Given the description of an element on the screen output the (x, y) to click on. 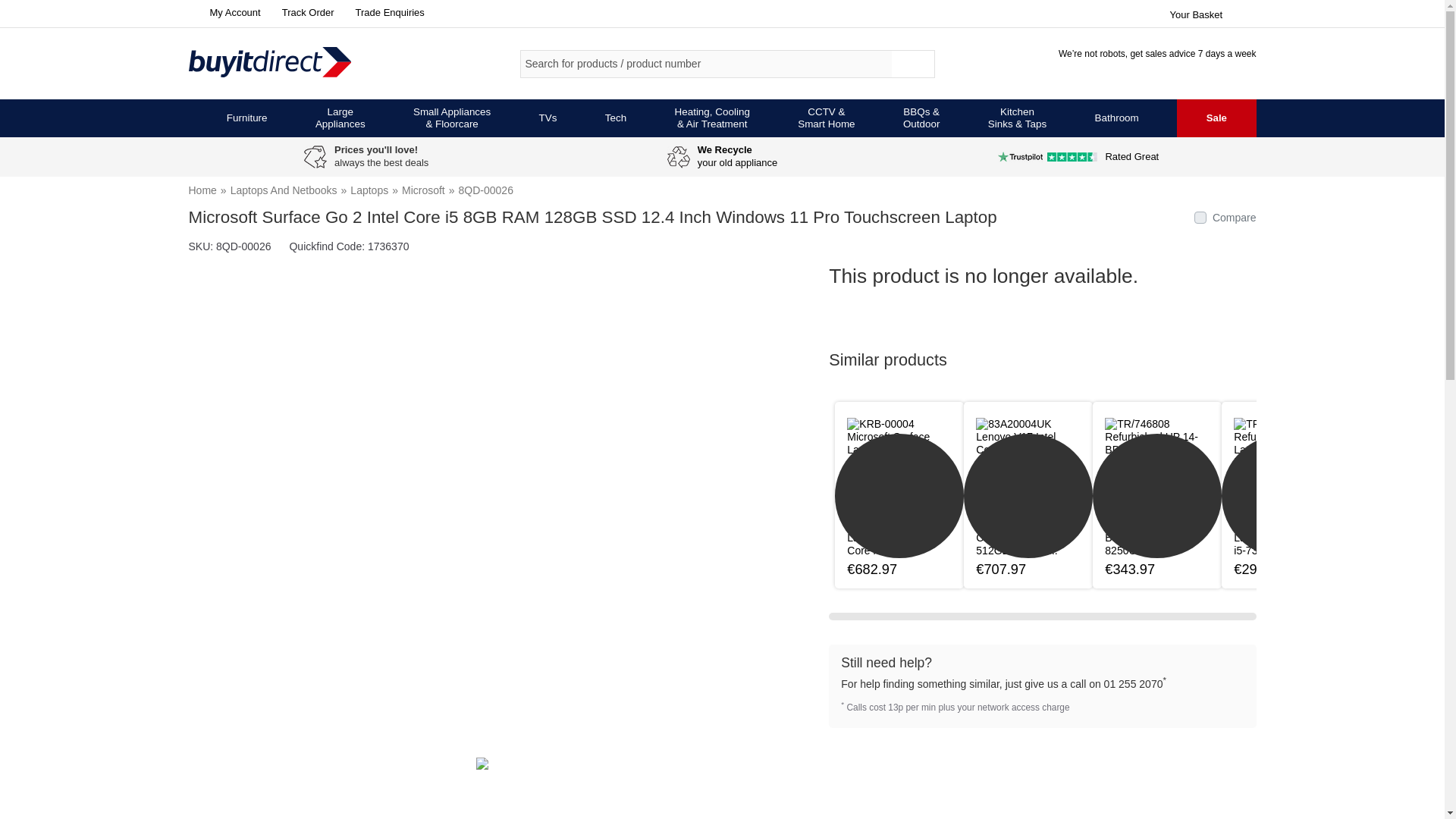
My Account (223, 12)
But it Direct Order Tracking (305, 12)
Trade Enquiries (387, 12)
Trade Enquiries (387, 12)
Search (912, 63)
Furniture (247, 118)
Your basket contains (1212, 12)
Buy it Direct (294, 63)
Track Order (305, 12)
